Given the description of an element on the screen output the (x, y) to click on. 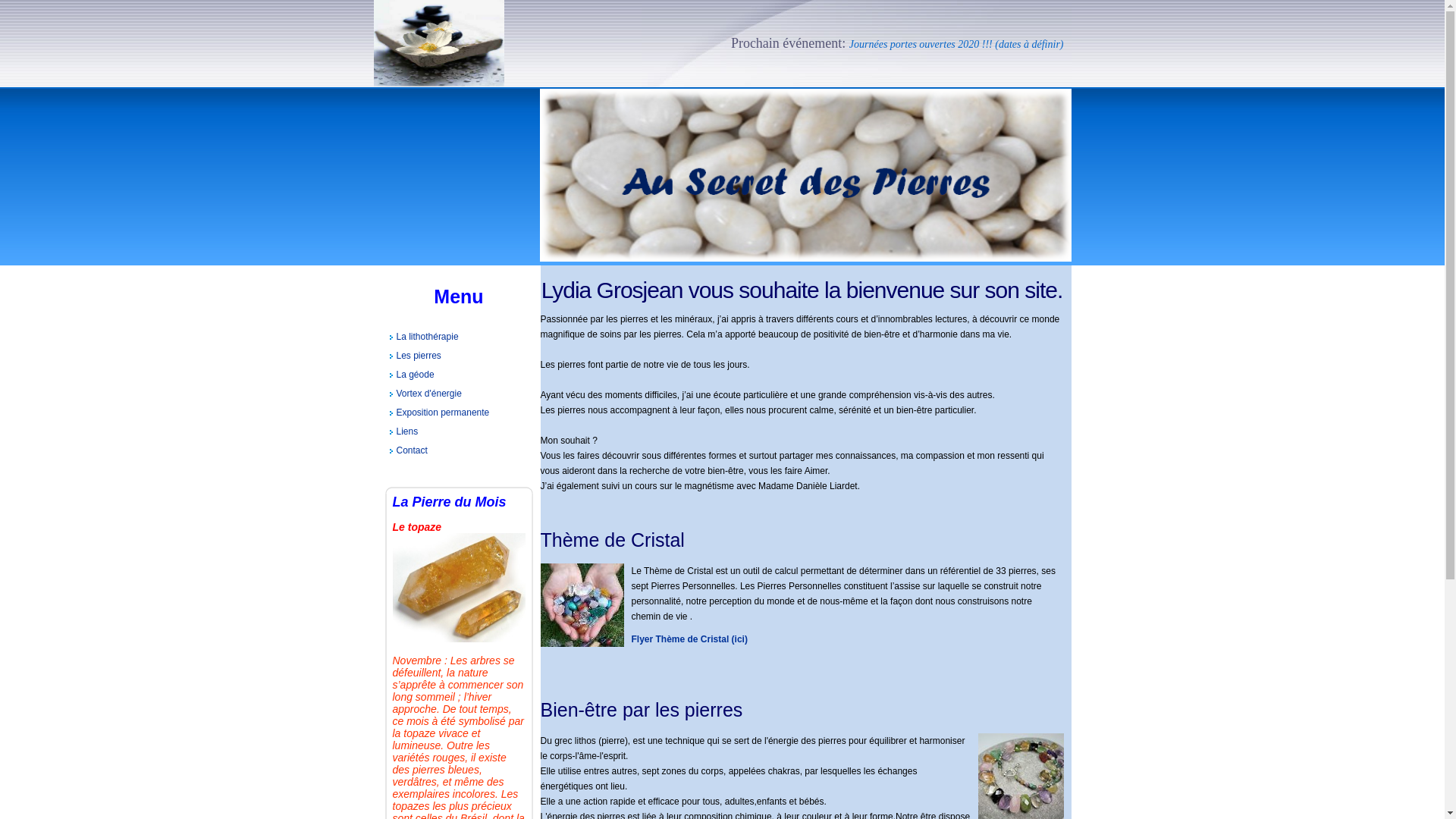
Liens Element type: text (459, 431)
Contact Element type: text (459, 450)
Exposition permanente Element type: text (459, 412)
Les pierres Element type: text (459, 355)
